Given the description of an element on the screen output the (x, y) to click on. 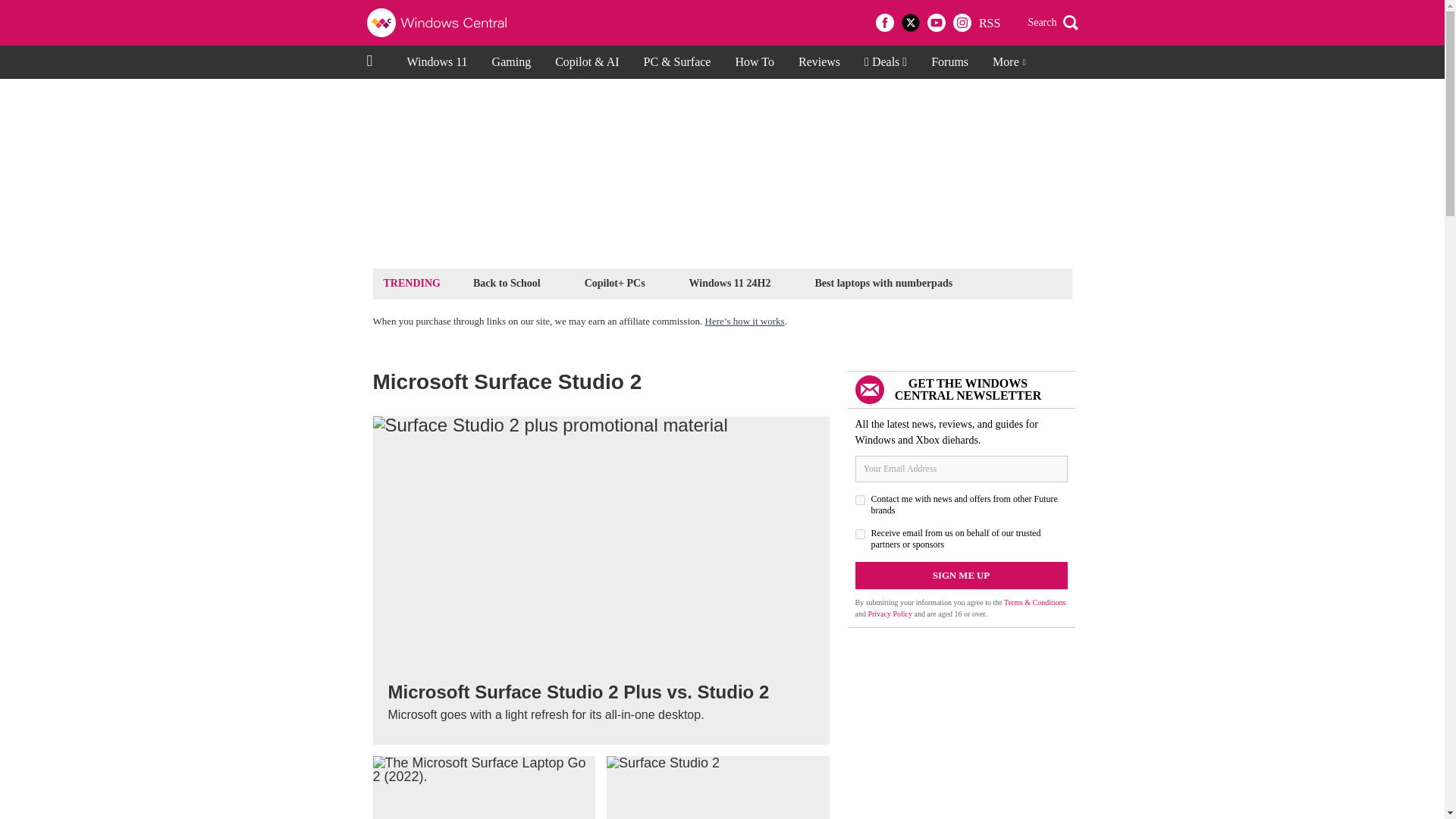
on (860, 500)
Gaming (511, 61)
How To (754, 61)
Poll: Which Surface device is your favorite? (483, 787)
Back to School (506, 282)
Forums (948, 61)
on (860, 533)
Windows 11 24H2 (730, 282)
Best laptops with numberpads (883, 282)
